Given the description of an element on the screen output the (x, y) to click on. 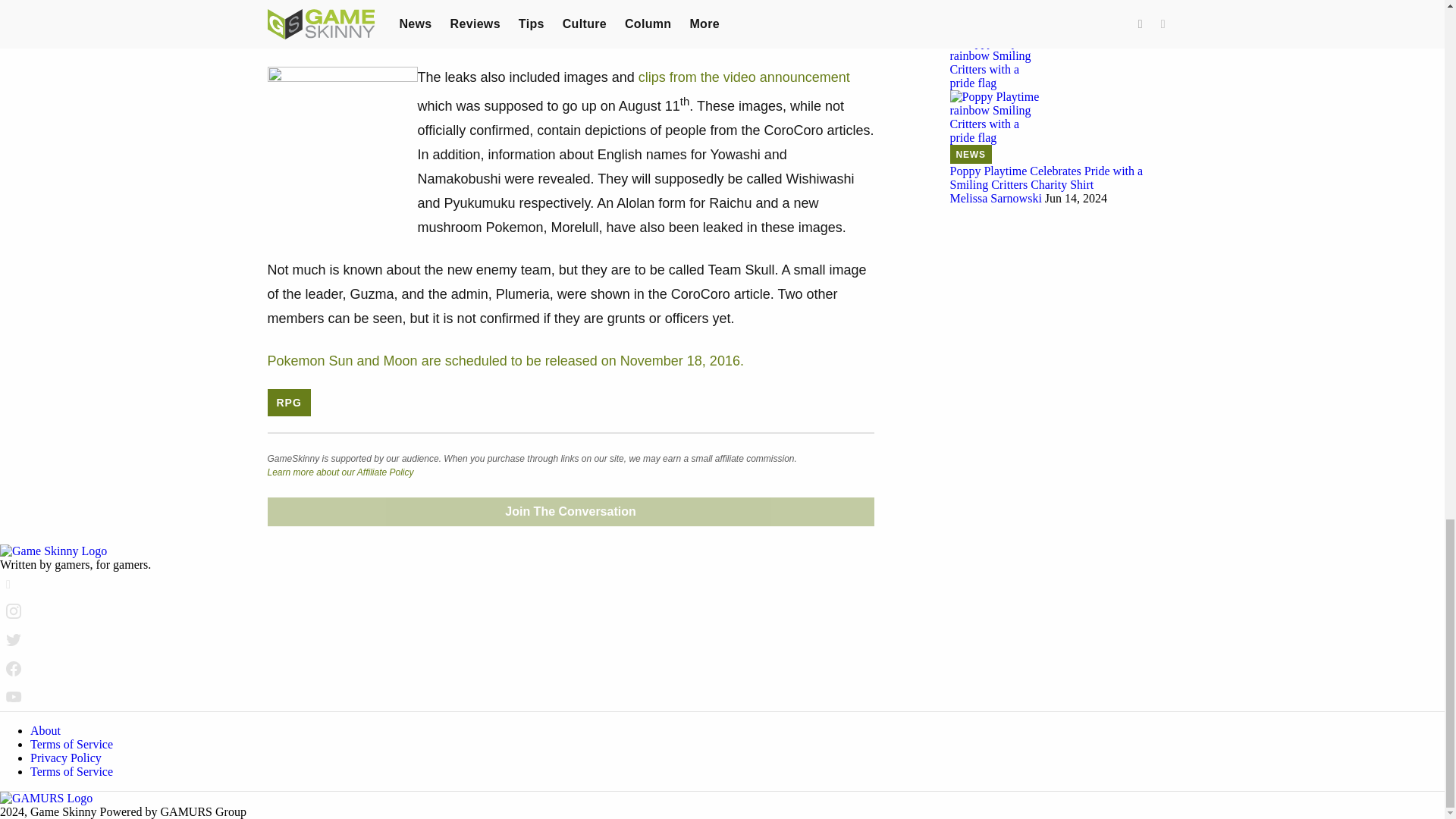
Join The Conversation (569, 511)
